Given the description of an element on the screen output the (x, y) to click on. 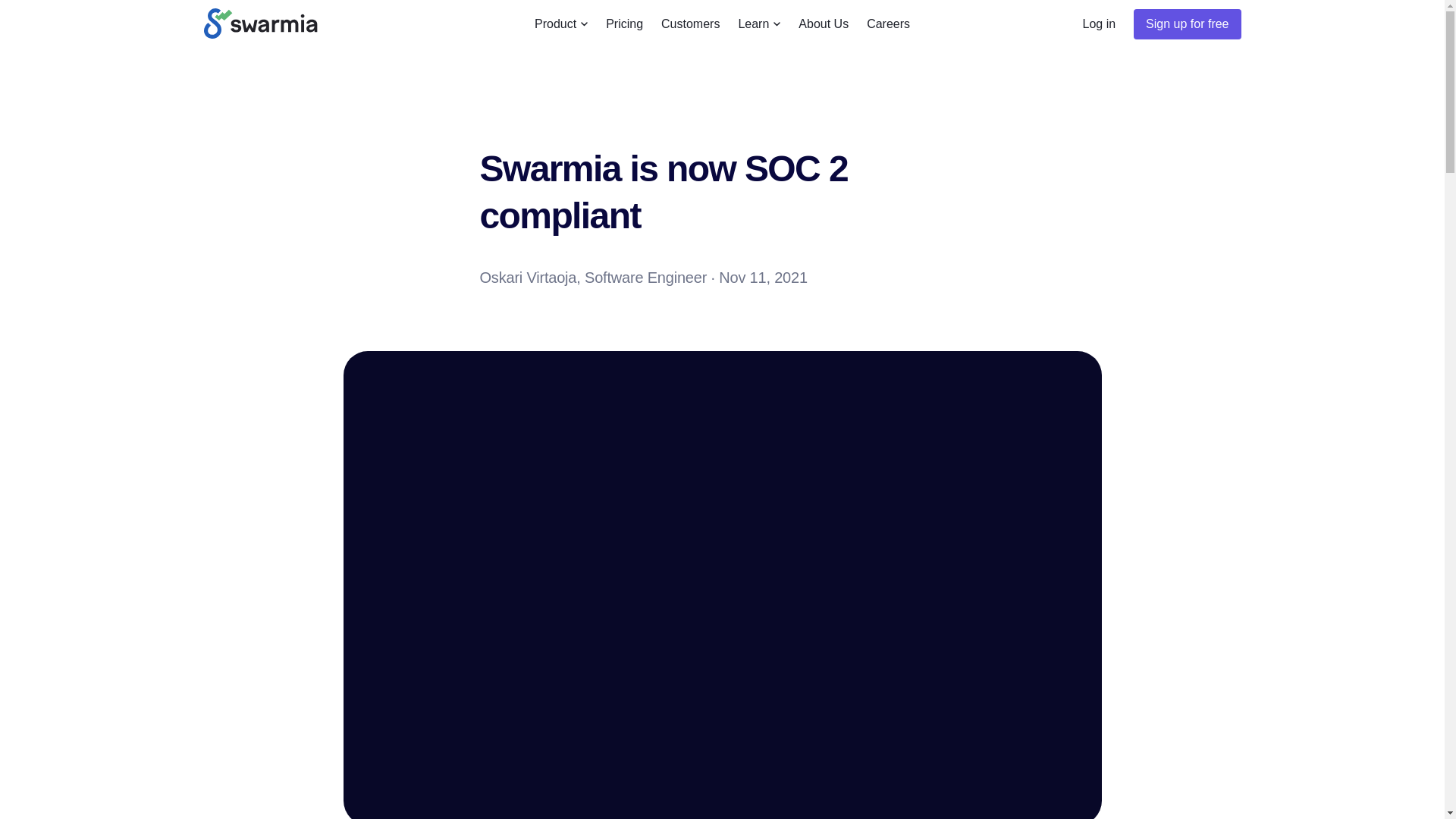
Careers (887, 24)
Sign up for free (1187, 24)
About Us (823, 24)
Log in (1099, 24)
Pricing (624, 24)
Customers (690, 24)
